Given the description of an element on the screen output the (x, y) to click on. 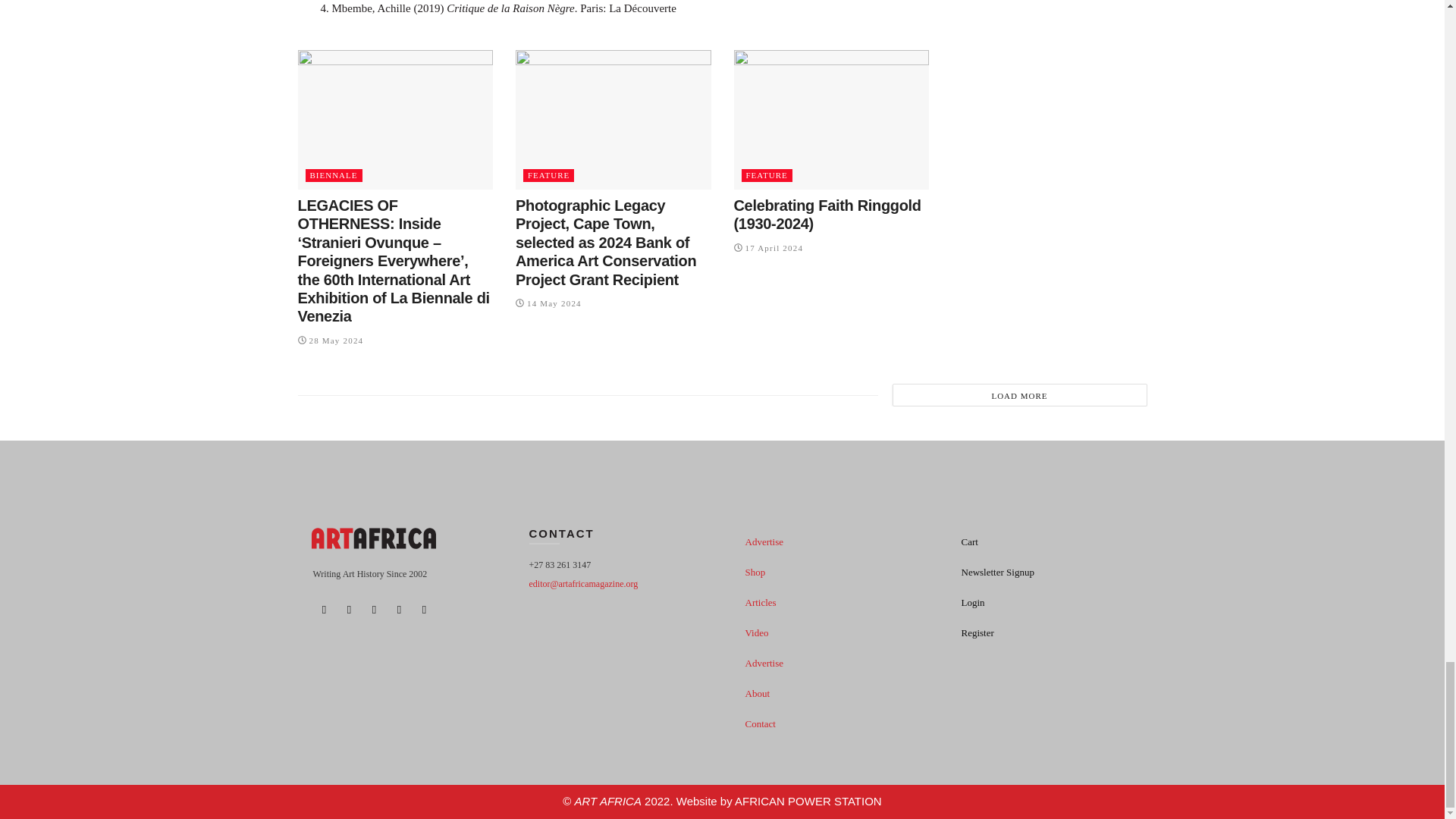
17 April 2024 (768, 247)
BIENNALE (332, 174)
28 May 2024 (329, 339)
FEATURE (547, 174)
FEATURE (766, 174)
LOAD MORE (1019, 395)
14 May 2024 (547, 302)
